Given the description of an element on the screen output the (x, y) to click on. 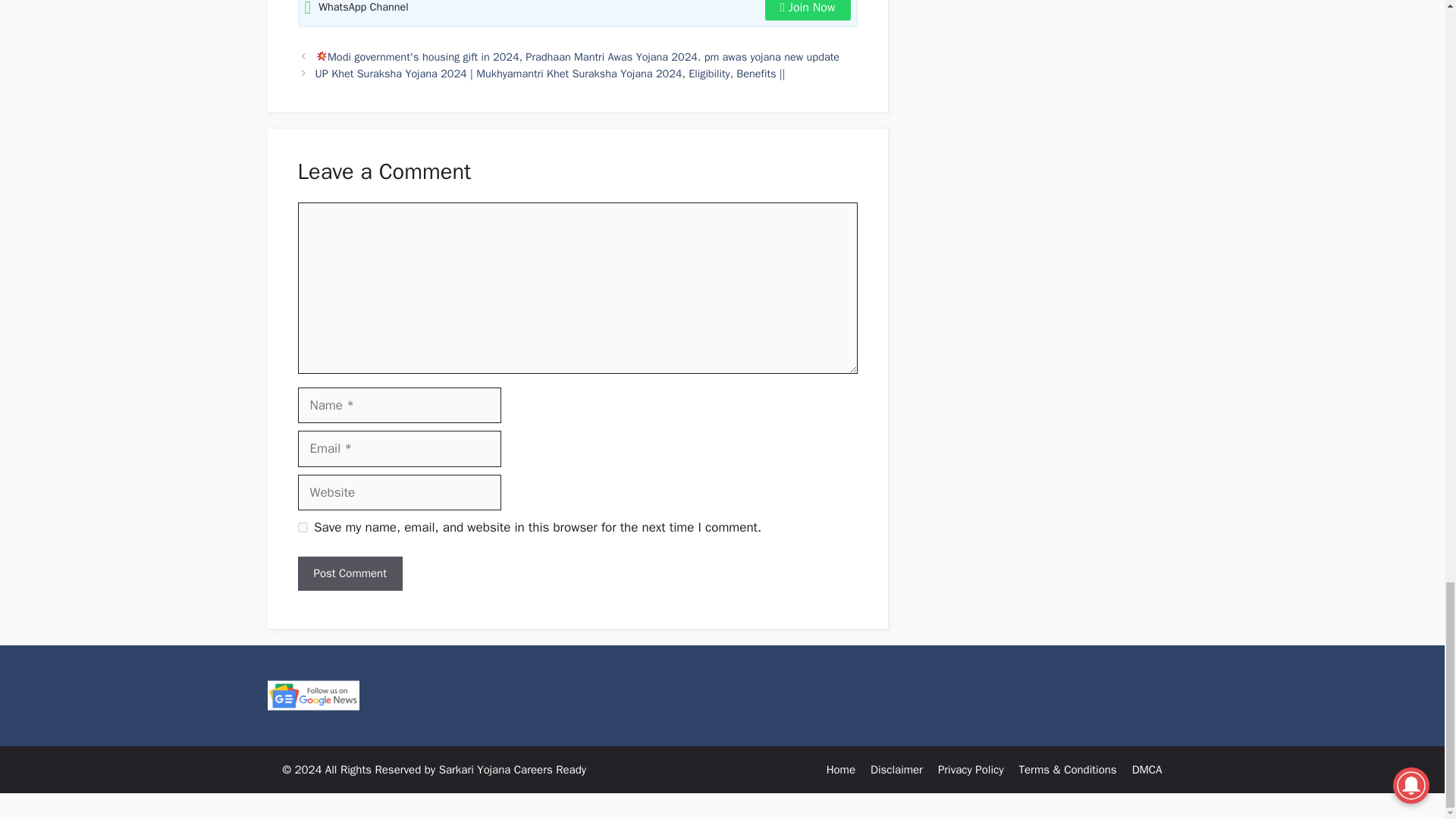
yes (302, 527)
Post Comment (349, 573)
Join Now (807, 10)
Post Comment (349, 573)
